Given the description of an element on the screen output the (x, y) to click on. 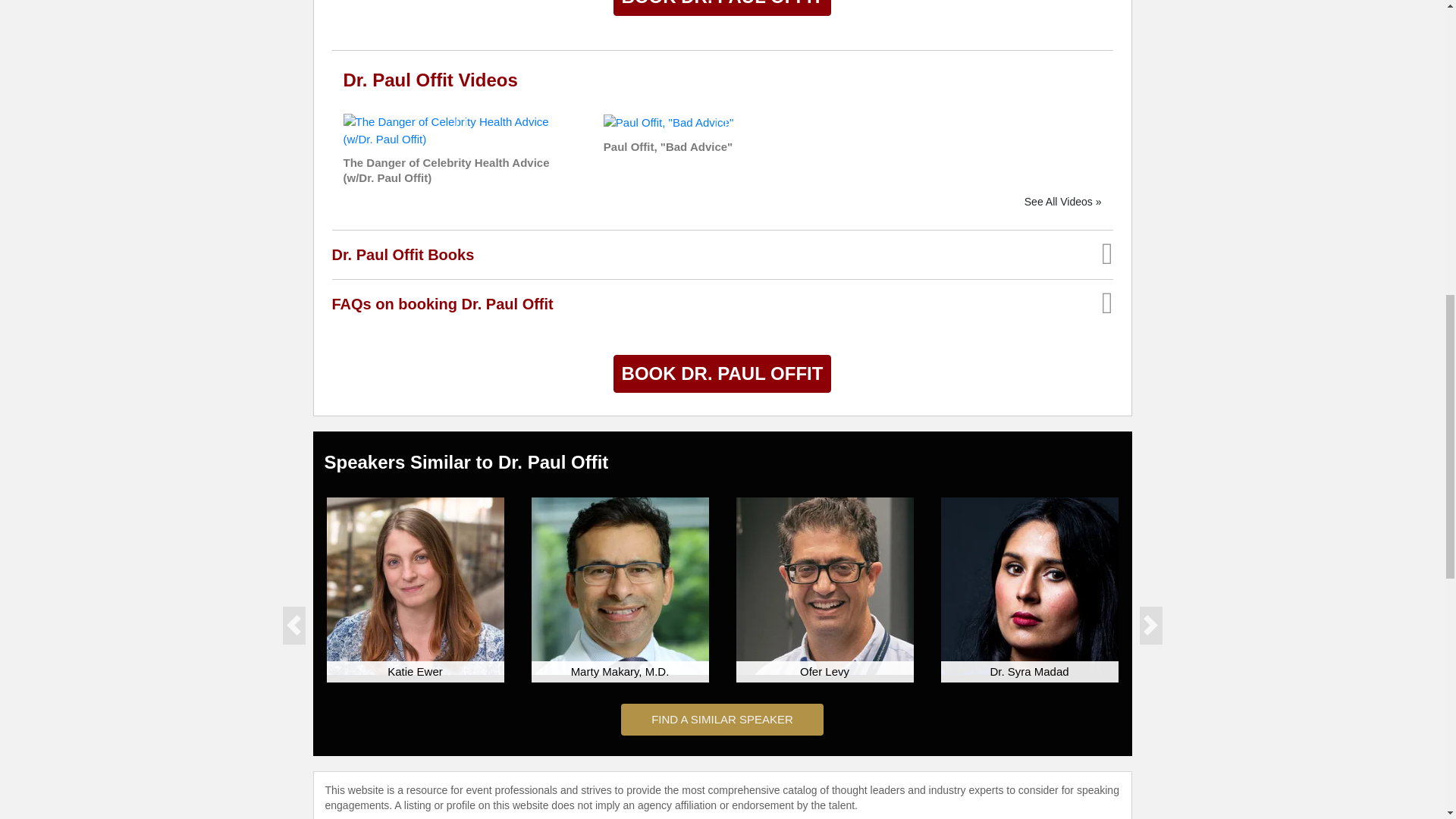
Paul Offit, "Bad Advice" (668, 121)
Katie Ewer (414, 585)
Marty Makary, M.D. (619, 585)
Dr. Syra Madad (1029, 585)
Ofer Levy (823, 585)
